Given the description of an element on the screen output the (x, y) to click on. 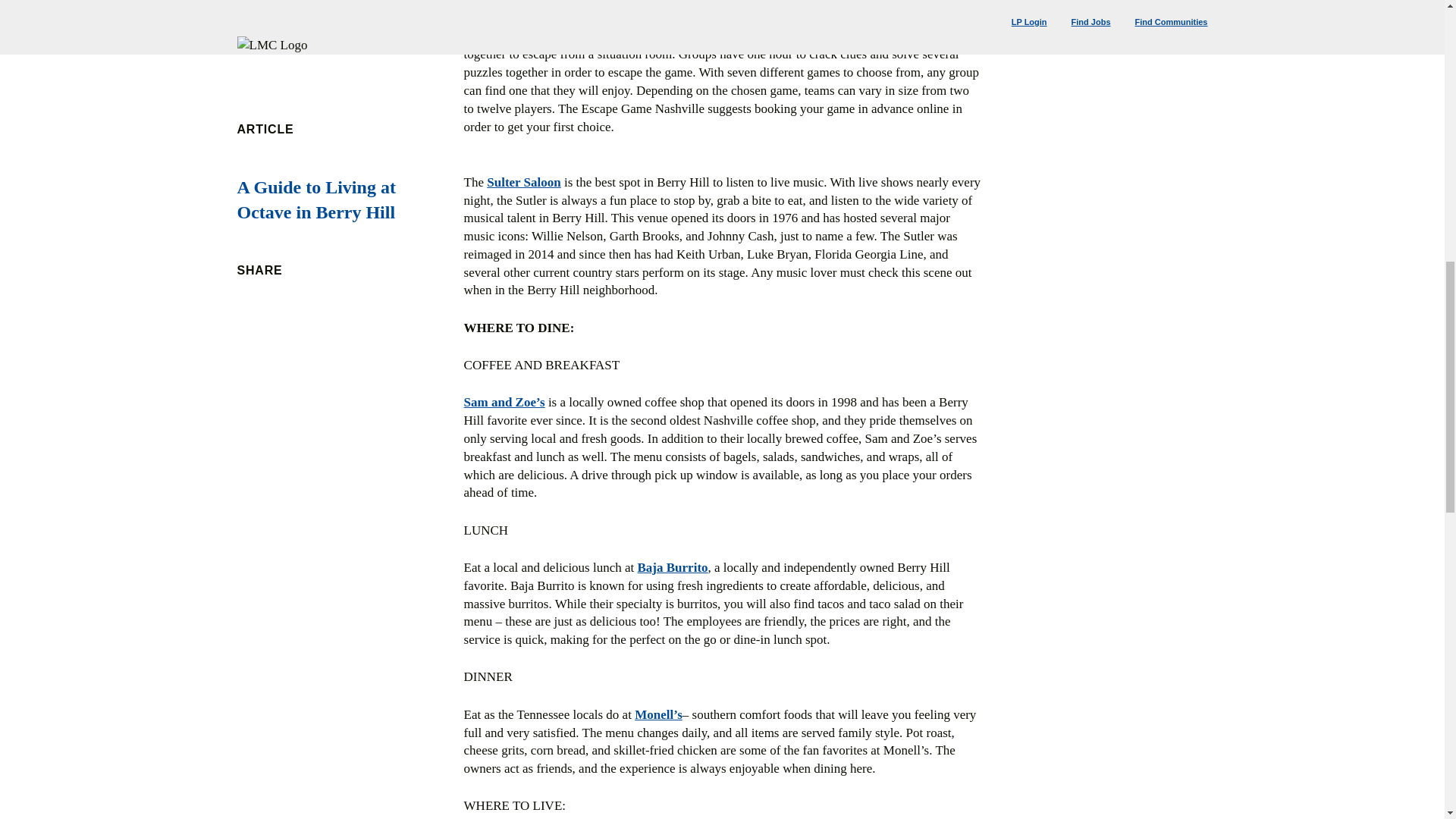
Baja Burrito (672, 567)
The Escape Game (513, 36)
Sulter Saloon (523, 182)
